Given the description of an element on the screen output the (x, y) to click on. 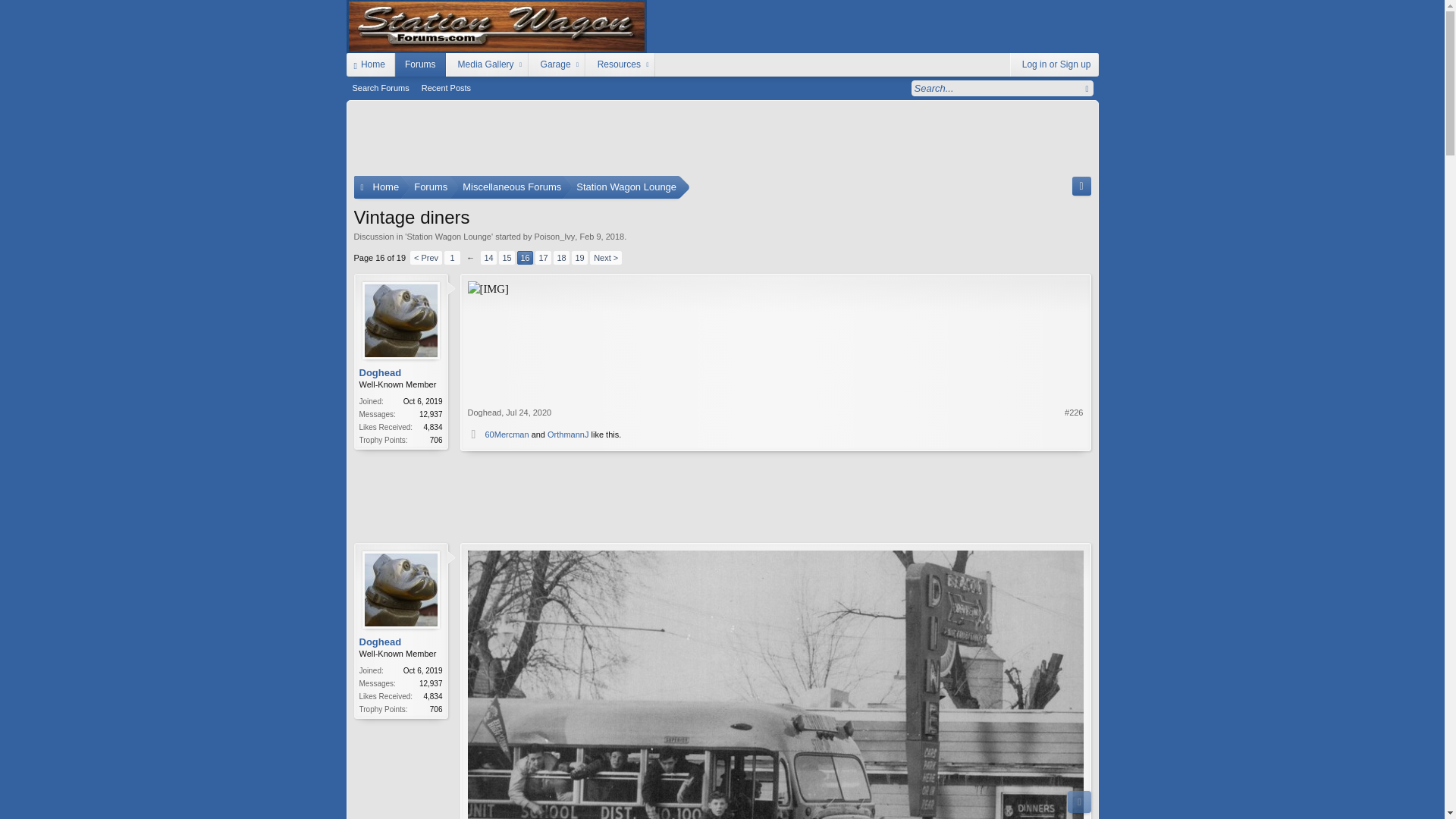
Feb 9, 2018 (601, 235)
Permalink (1073, 412)
Station Wagon Lounge (626, 186)
Advertisement (721, 141)
19 (580, 257)
Open quick navigation (1080, 185)
Garage (554, 64)
Advertisement (721, 491)
15 (507, 257)
Miscellaneous Forums (524, 257)
16 (511, 186)
Log in or Sign up (524, 257)
Enter your search and hit enter (1054, 64)
